Given the description of an element on the screen output the (x, y) to click on. 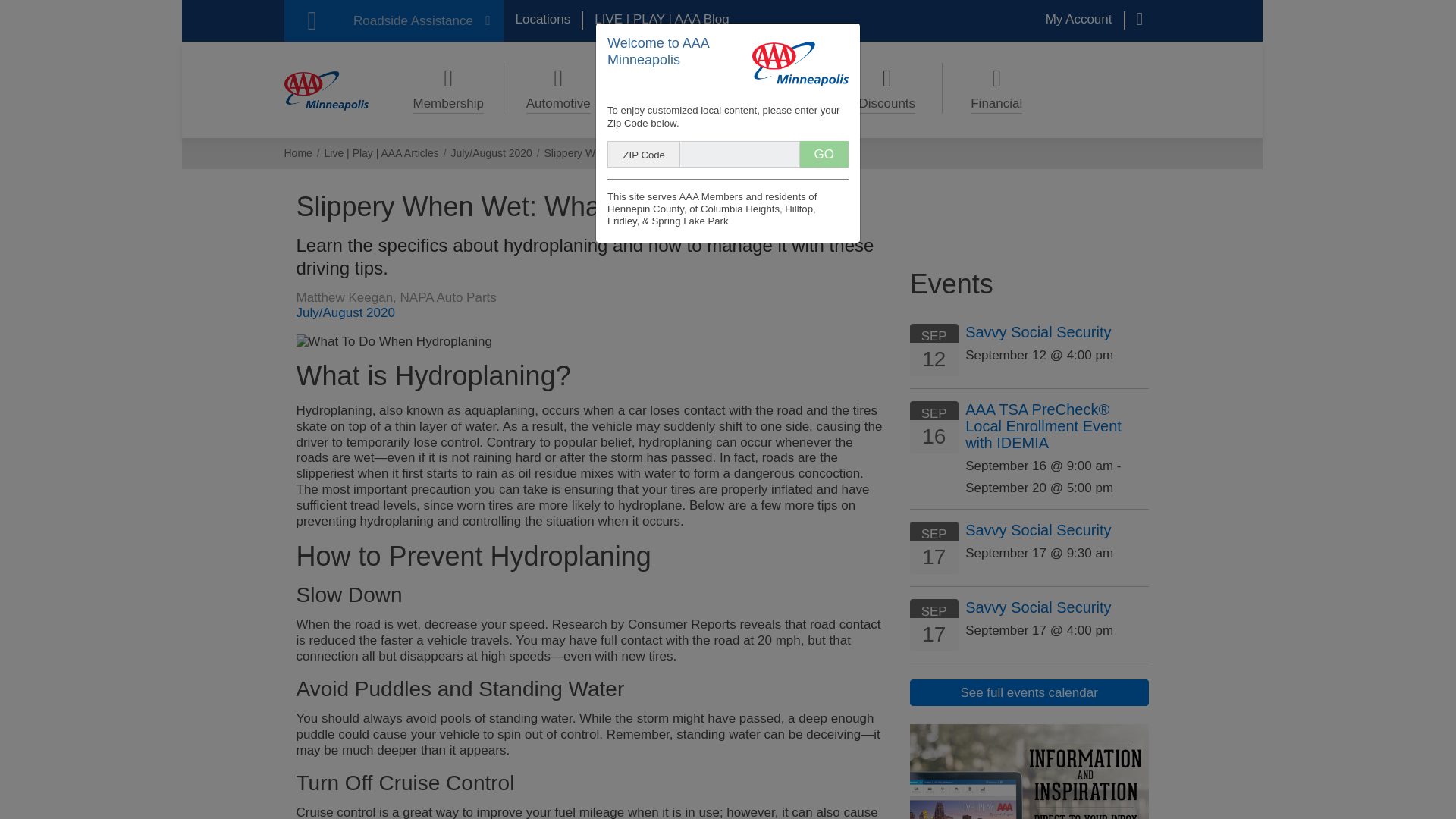
Roadside Assistance (392, 20)
Locations (543, 20)
Membership (448, 88)
Automotive (557, 88)
